Given the description of an element on the screen output the (x, y) to click on. 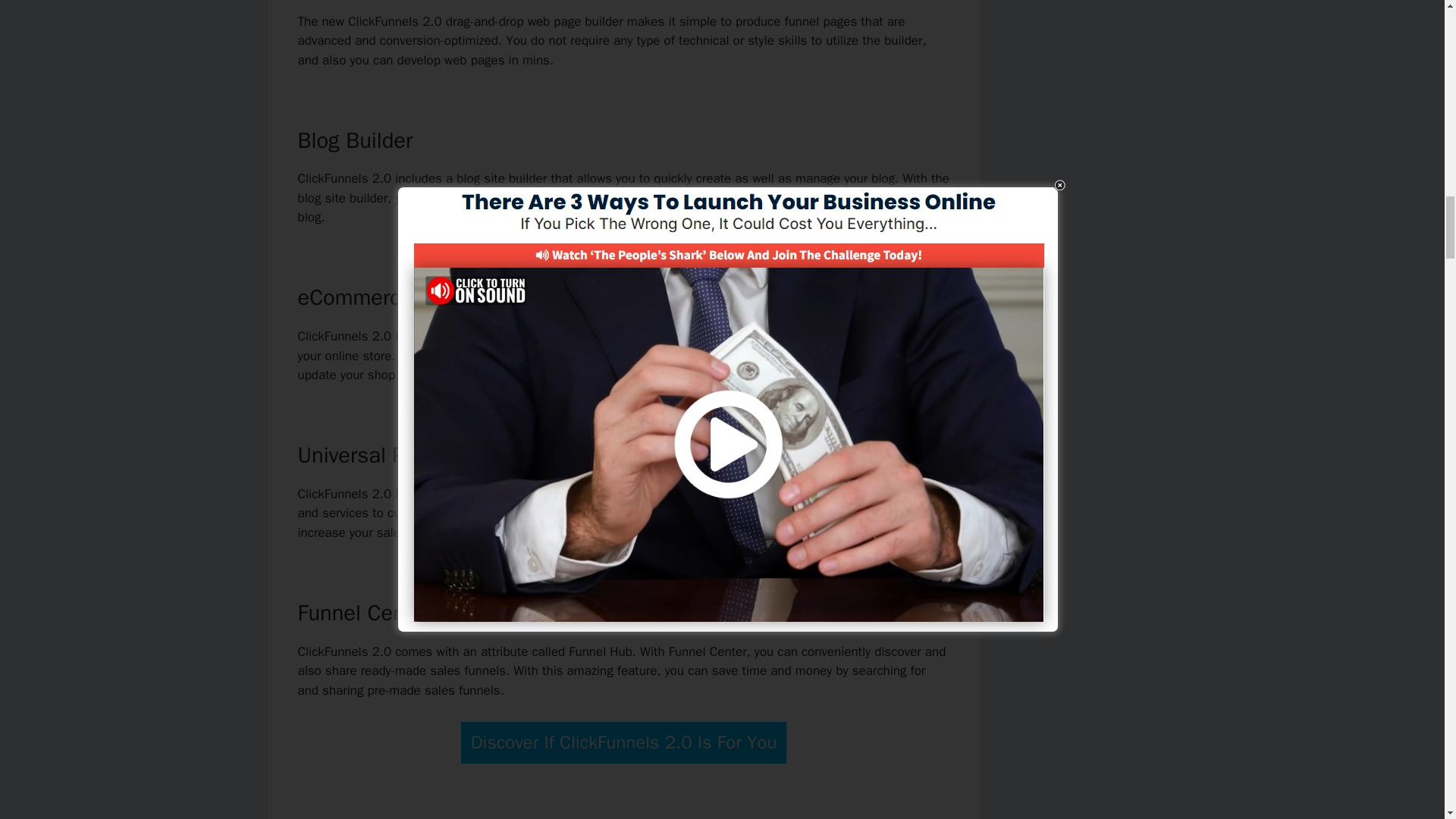
Discover If ClickFunnels 2.0 Is For You (624, 742)
